Given the description of an element on the screen output the (x, y) to click on. 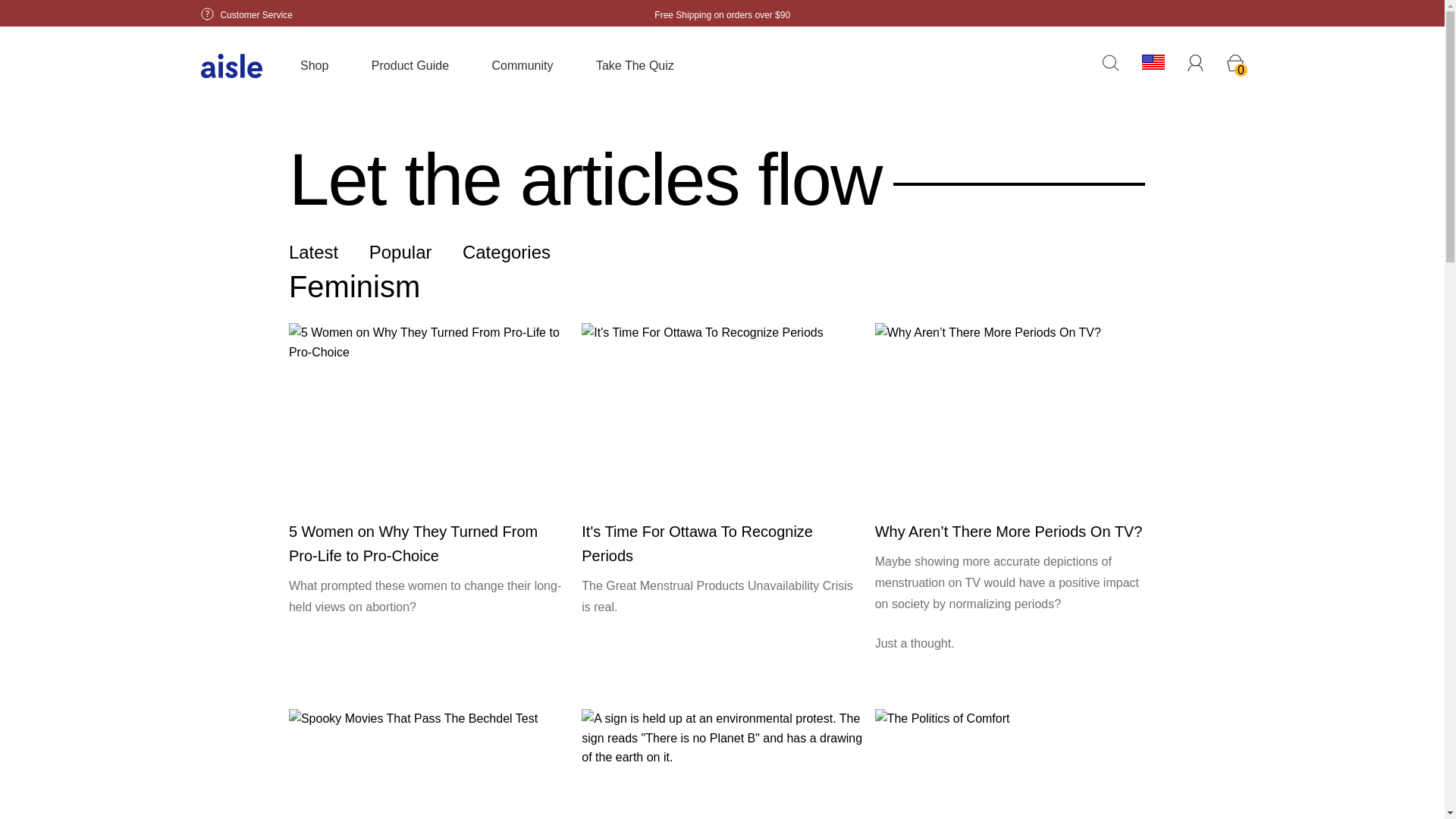
Customer Service (246, 14)
Aisle Logo (231, 65)
Product Guide (409, 65)
Take The Quiz (634, 65)
Community (522, 65)
Community (522, 65)
Product Guide (409, 65)
